Given the description of an element on the screen output the (x, y) to click on. 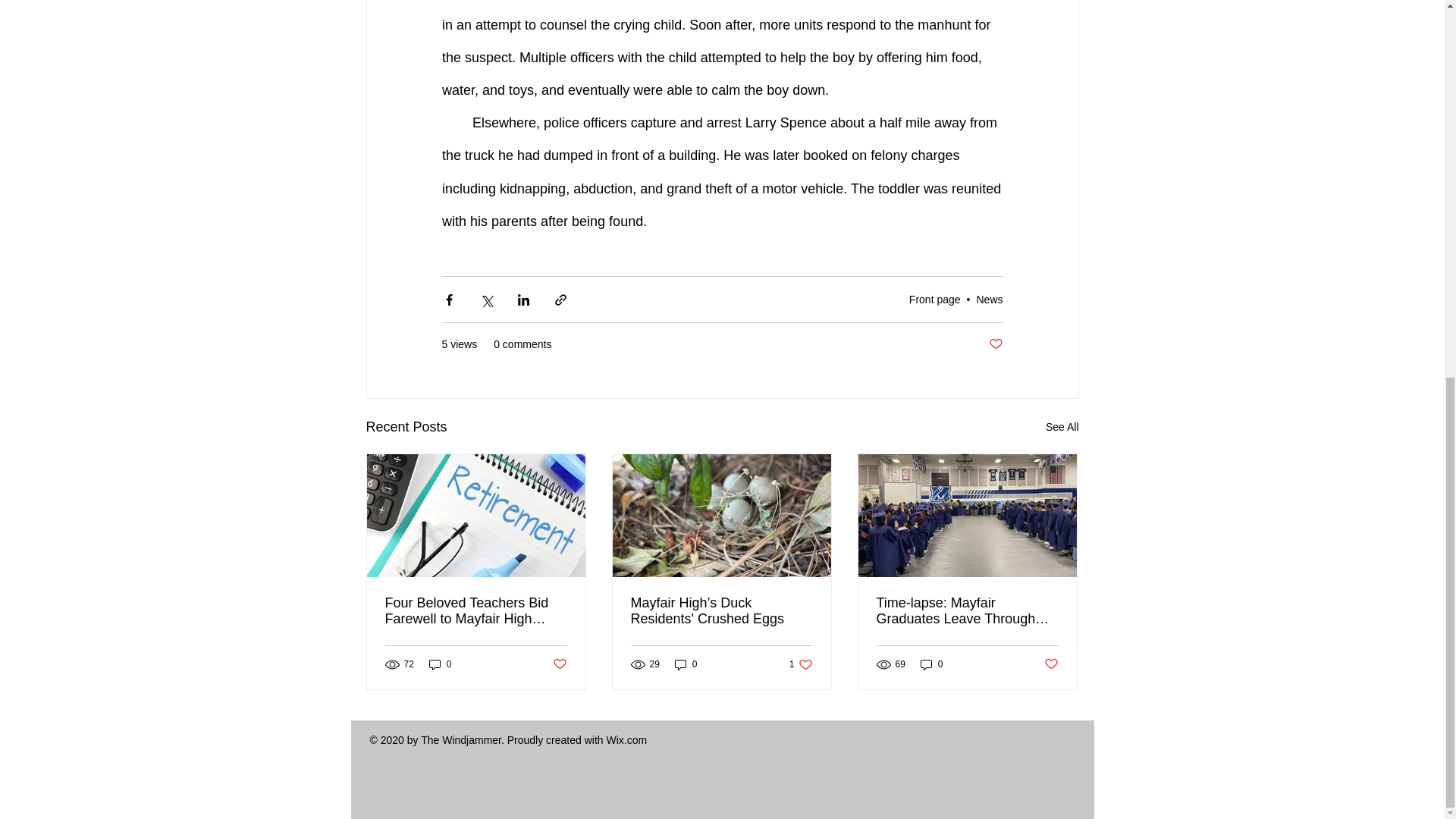
See All (1061, 427)
0 (440, 664)
Post not marked as liked (558, 663)
News (989, 299)
Front page (934, 299)
Post not marked as liked (995, 344)
